Given the description of an element on the screen output the (x, y) to click on. 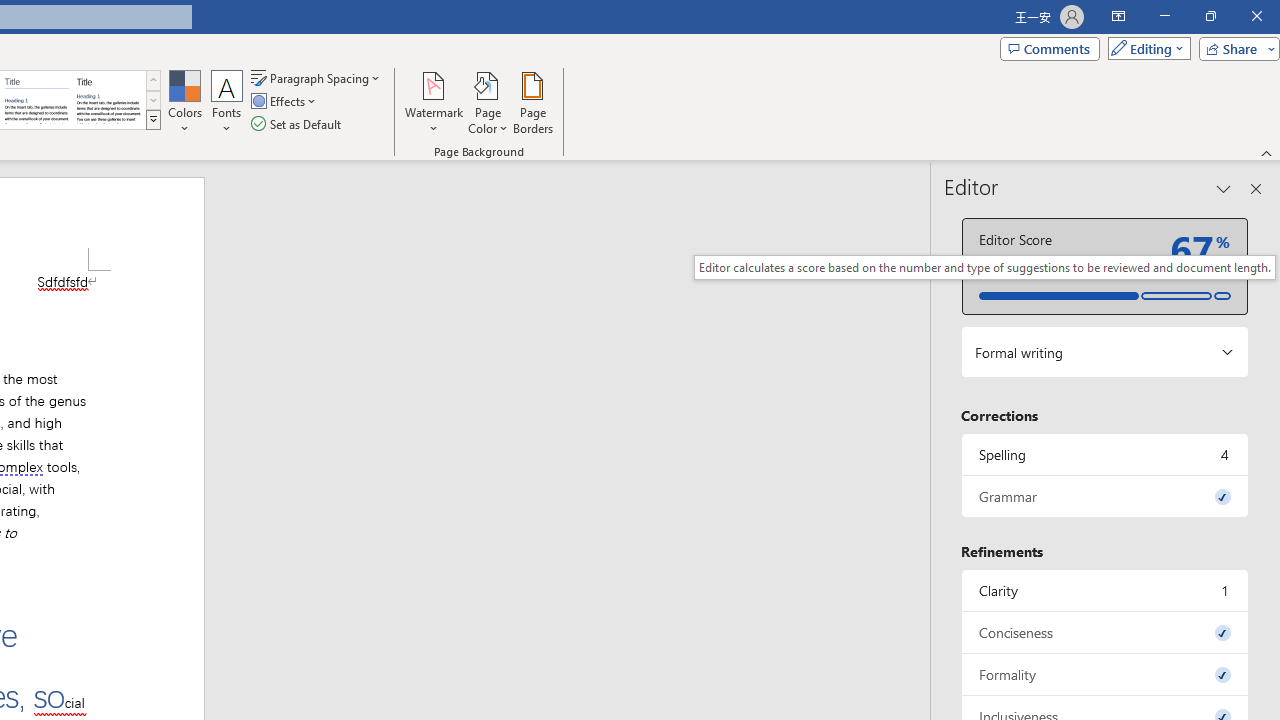
Fonts (227, 102)
Grammar, 0 issues. Press space or enter to review items. (1105, 495)
Page Color (487, 102)
Watermark (434, 102)
Effects (285, 101)
Set as Default (298, 124)
Paragraph Spacing (317, 78)
Spelling, 4 issues. Press space or enter to review items. (1105, 454)
